Given the description of an element on the screen output the (x, y) to click on. 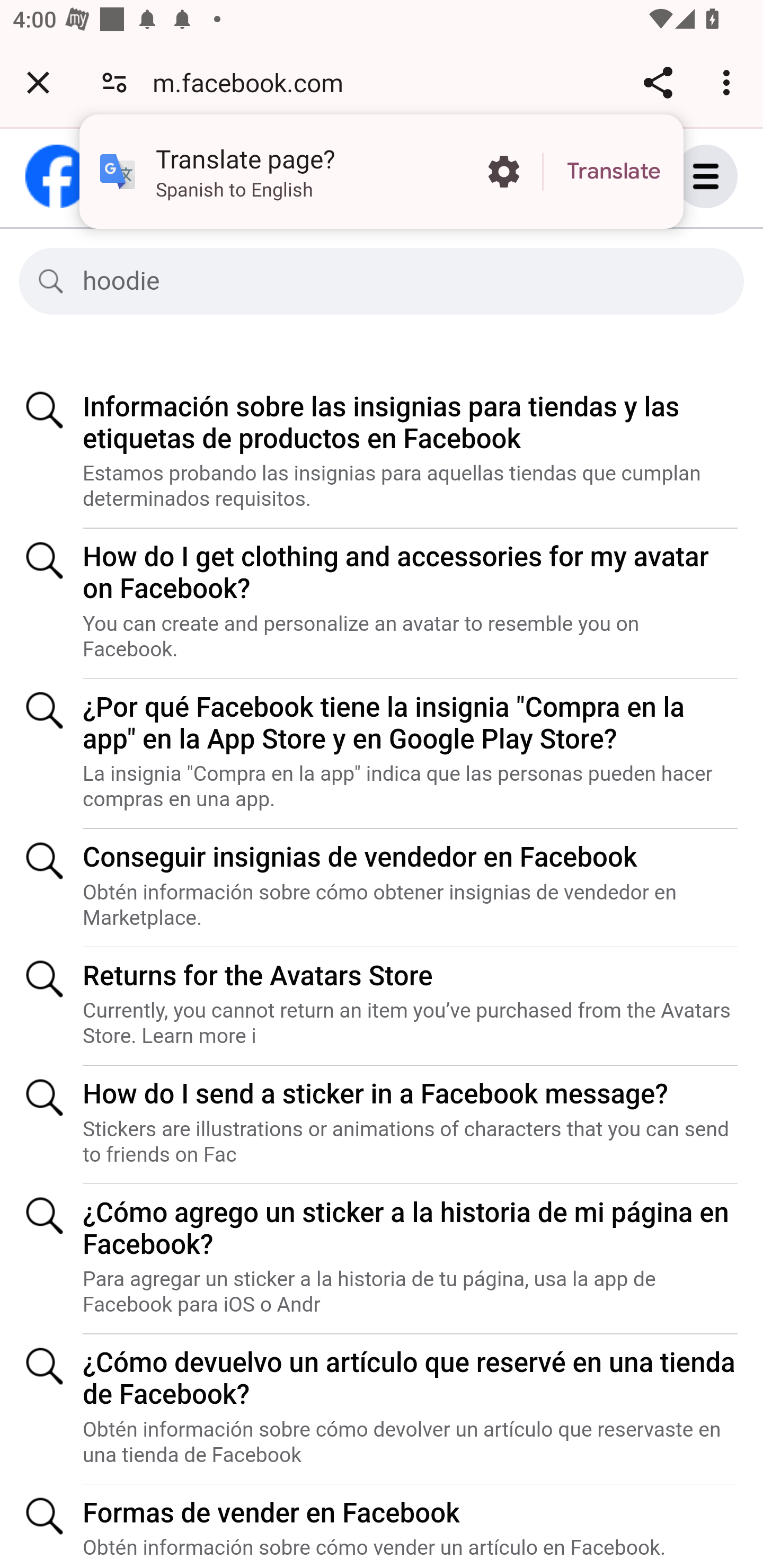
Close tab (38, 82)
Share (657, 82)
Customize and control Google Chrome (729, 82)
Connection is secure (114, 81)
m.facebook.com (254, 81)
Translate (613, 171)
More options in the Translate page? (503, 171)
Menú del servicio de ayuda (724, 176)
hoodie (397, 281)
